Given the description of an element on the screen output the (x, y) to click on. 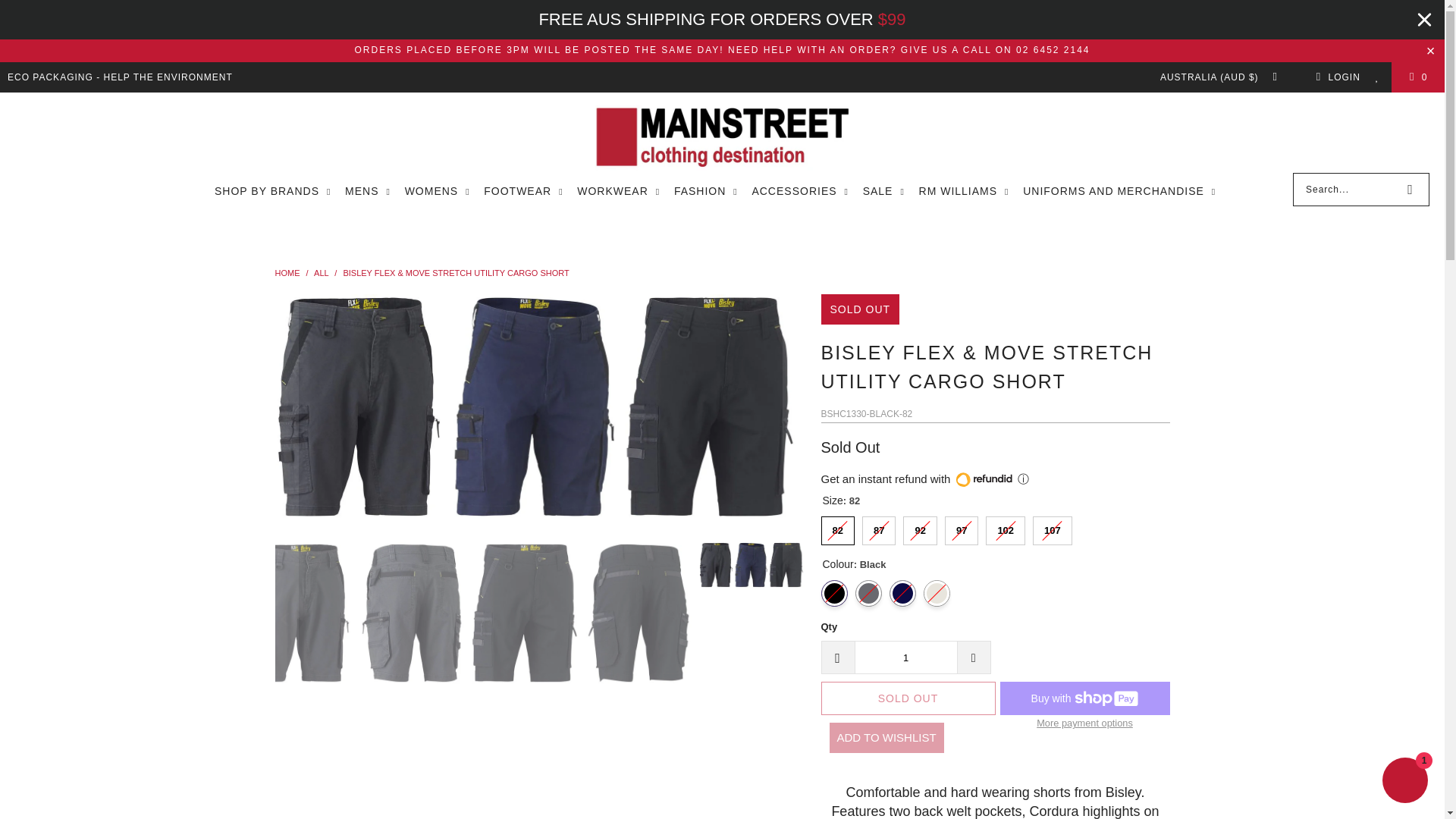
Mainstreet Clothing (722, 136)
1 (904, 657)
All (321, 272)
My Account  (1335, 76)
Mainstreet Clothing (287, 272)
